Given the description of an element on the screen output the (x, y) to click on. 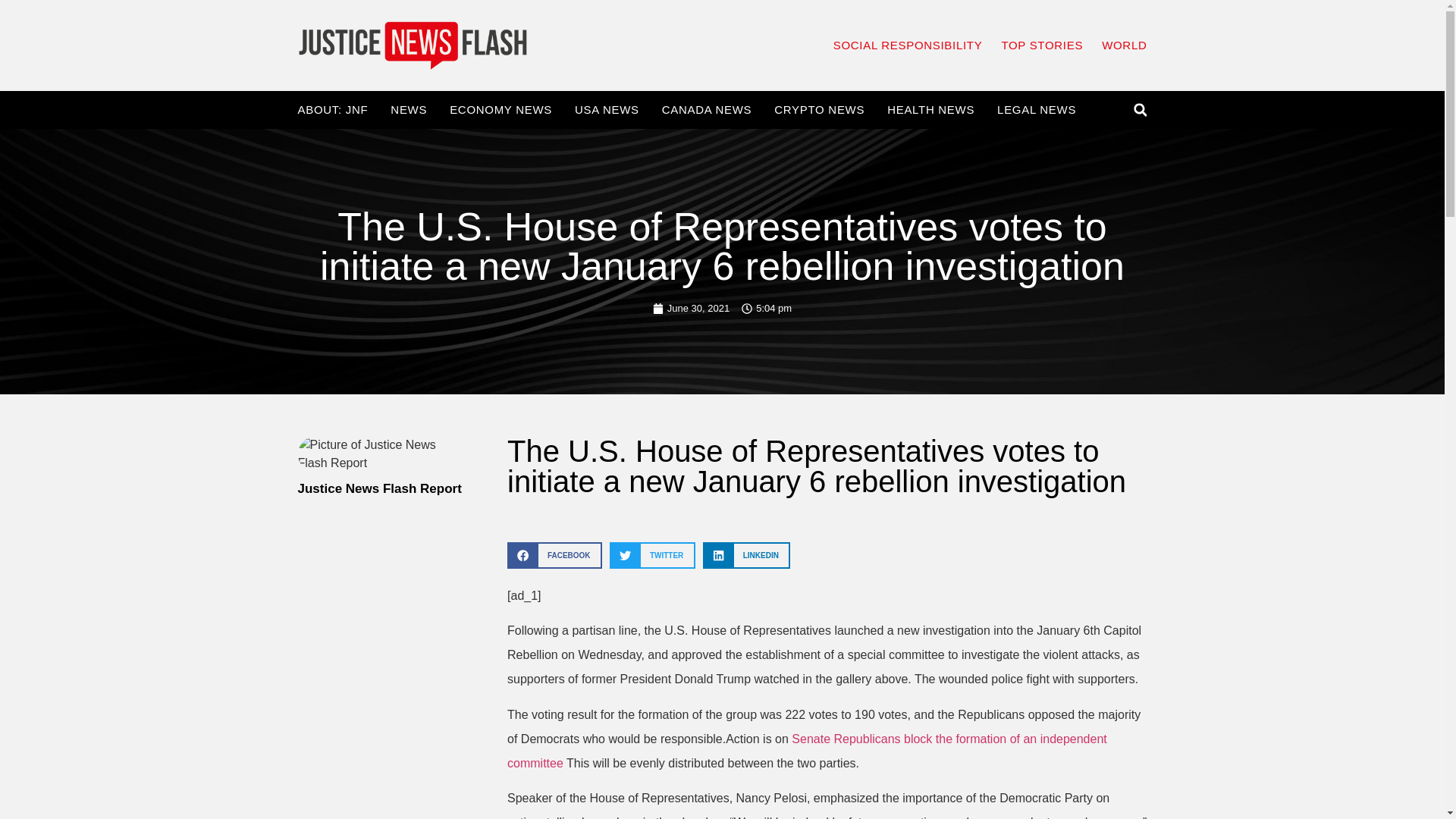
CANADA NEWS (706, 109)
NEWS (407, 109)
LEGAL NEWS (1036, 109)
USA NEWS (606, 109)
ABOUT: JNF (332, 109)
SOCIAL RESPONSIBILITY (907, 45)
HEALTH NEWS (930, 109)
ECONOMY NEWS (500, 109)
WORLD (1124, 45)
TOP STORIES (1042, 45)
June 30, 2021 (690, 308)
CRYPTO NEWS (819, 109)
